Given the description of an element on the screen output the (x, y) to click on. 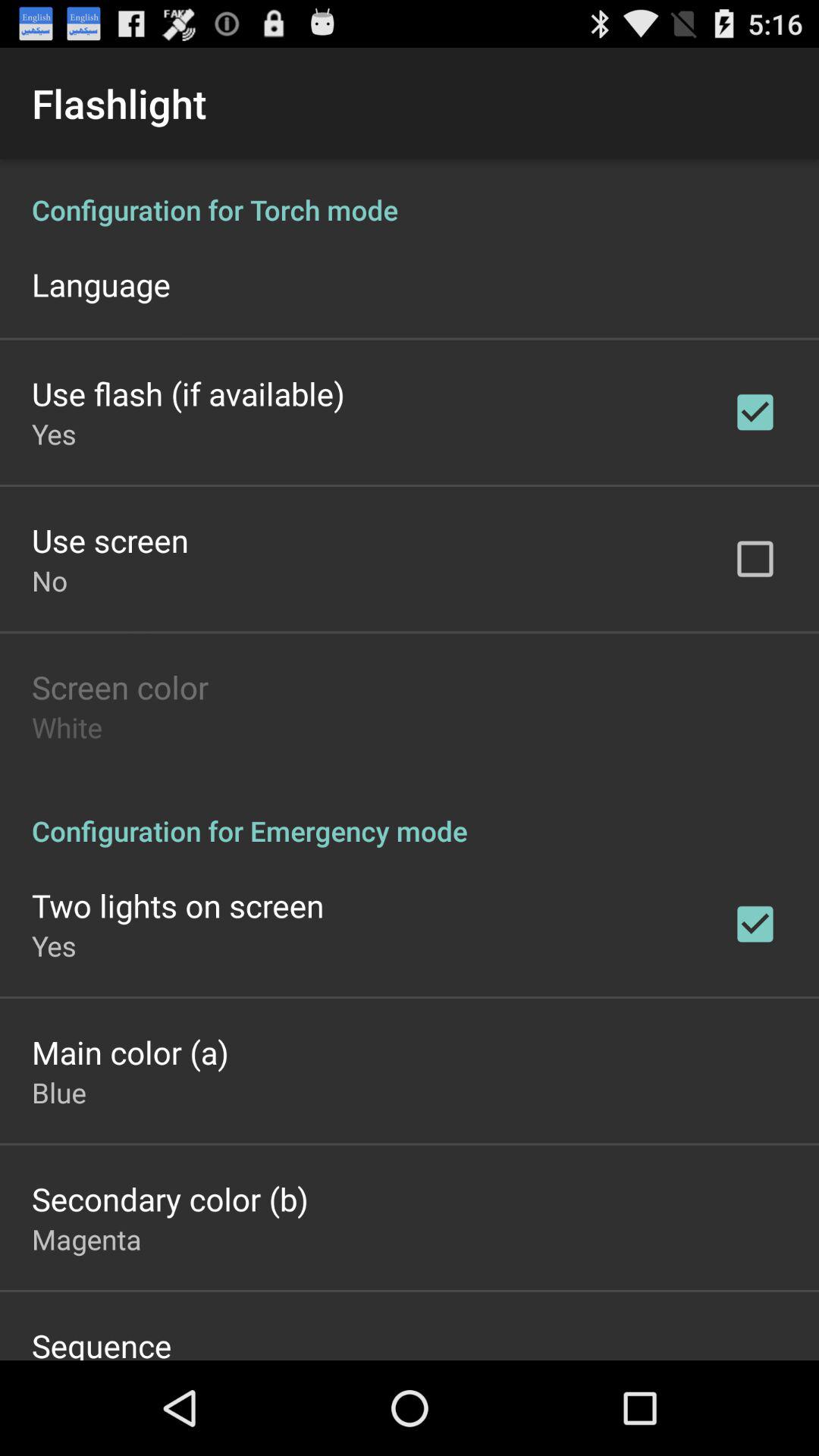
swipe to the use screen (109, 539)
